Given the description of an element on the screen output the (x, y) to click on. 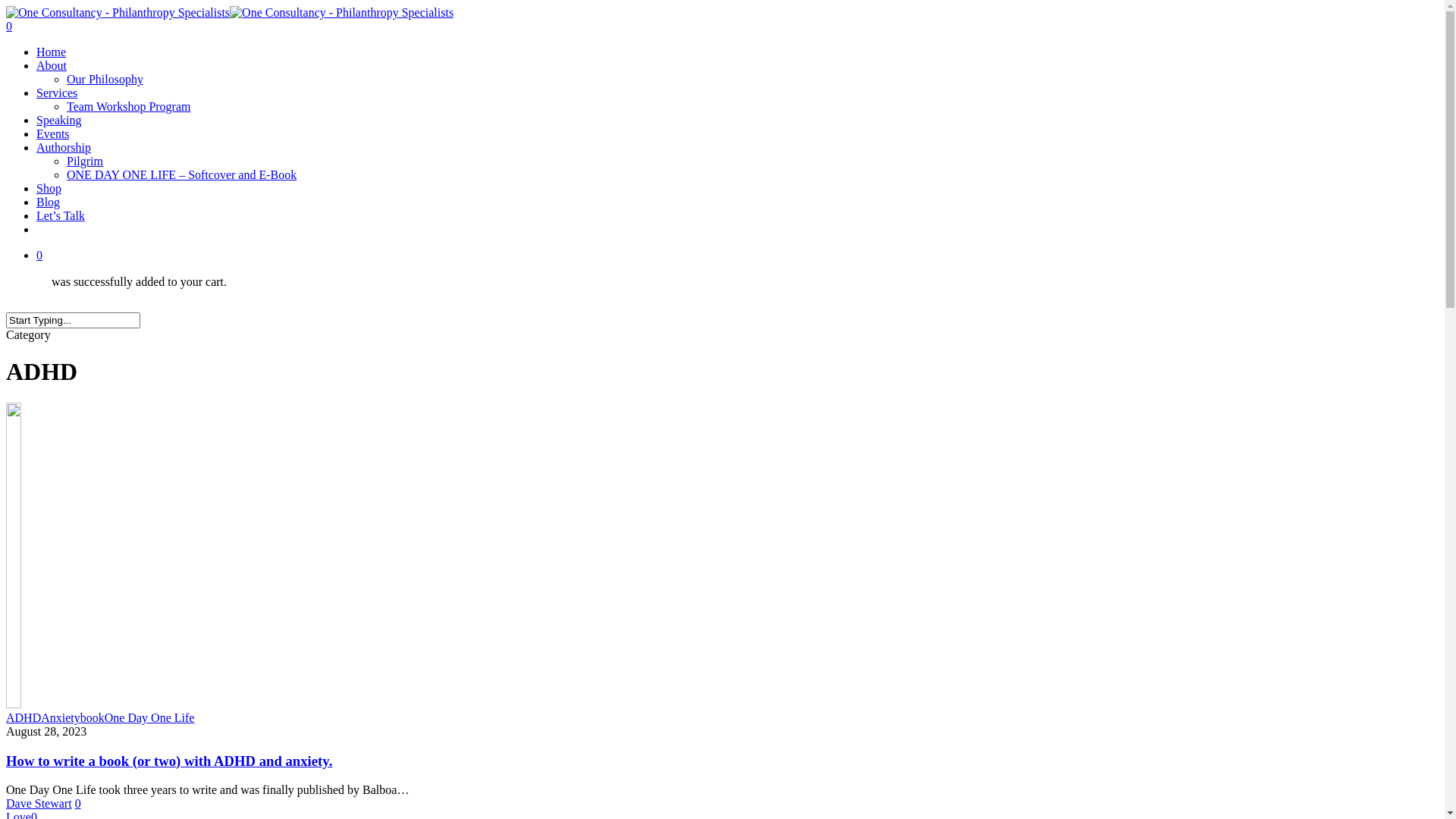
Our Philosophy Element type: text (104, 78)
Close Menu Element type: text (1414, 29)
Events Element type: text (52, 133)
Shop Element type: text (48, 188)
Team Workshop Program Element type: text (128, 106)
Blog Element type: text (47, 201)
Dave Stewart Element type: text (39, 803)
Home Element type: text (50, 51)
Skip to main content Element type: text (5, 5)
Pilgrim Element type: text (84, 160)
Authorship Element type: text (63, 147)
ADHD Element type: text (23, 717)
One Day One Life Element type: text (149, 717)
About Element type: text (51, 65)
0 Element type: text (722, 26)
0 Element type: text (737, 255)
Anxiety Element type: text (60, 717)
0 Element type: text (78, 803)
How to write a book (or two) with ADHD and anxiety. Element type: text (169, 760)
book Element type: text (92, 717)
Speaking Element type: text (58, 119)
Services Element type: text (56, 92)
